Given the description of an element on the screen output the (x, y) to click on. 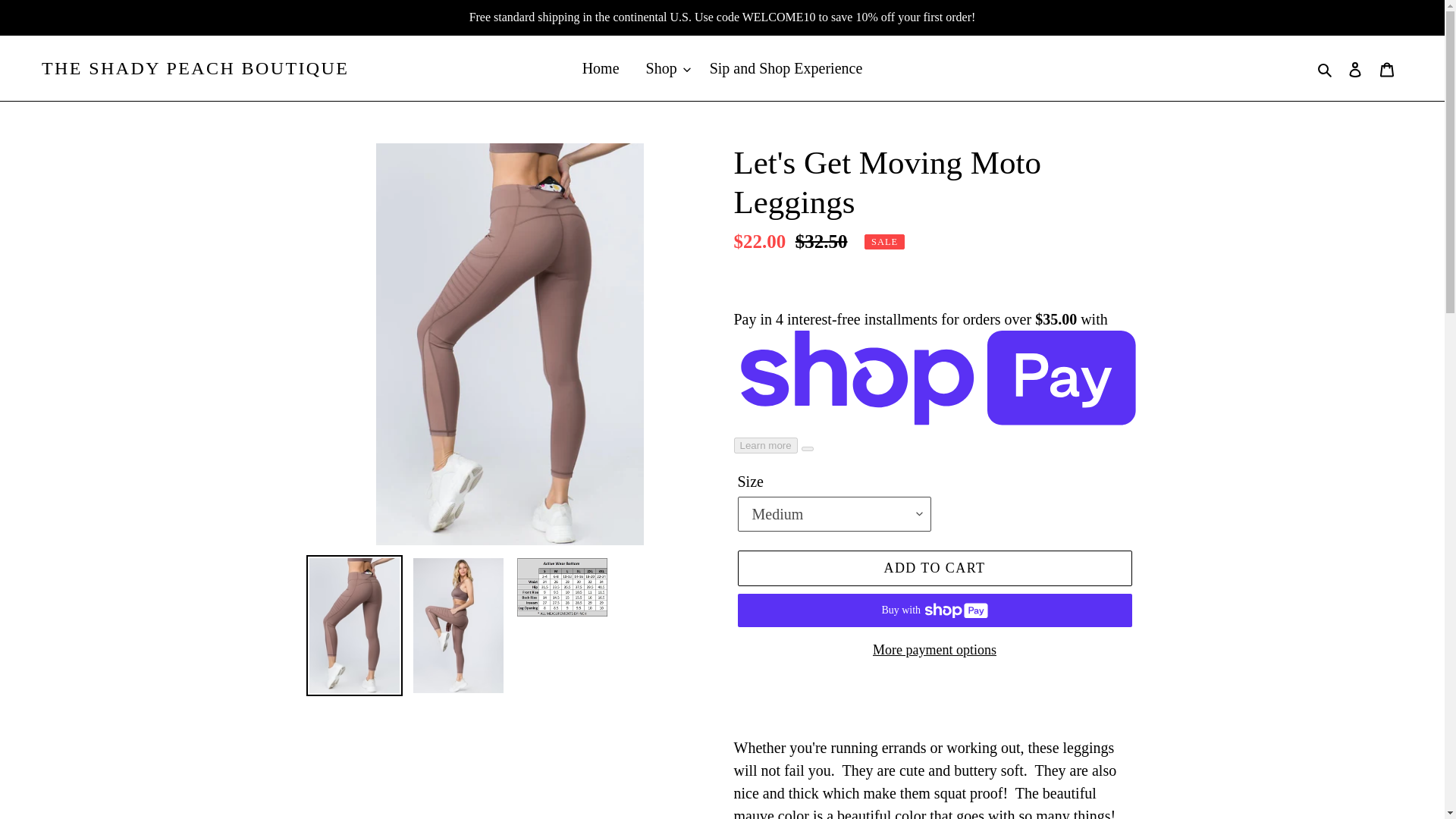
Home (601, 67)
Search (1326, 68)
THE SHADY PEACH BOUTIQUE (195, 68)
Shop (664, 67)
Sip and Shop Experience (785, 67)
Shop (658, 67)
